Given the description of an element on the screen output the (x, y) to click on. 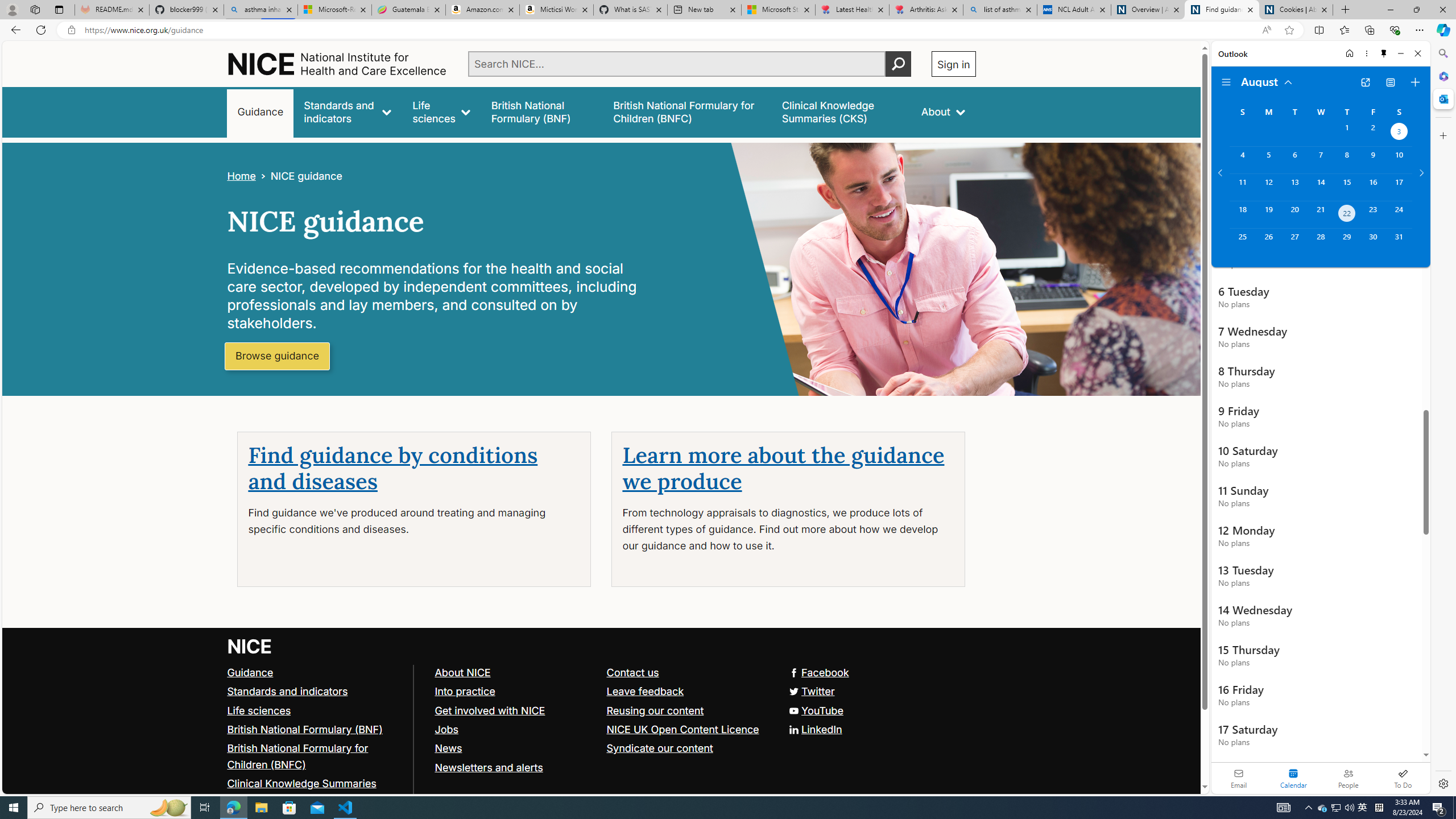
Sunday, August 18, 2024.  (1242, 214)
NICE UK Open Content Licence (686, 729)
NICE UK Open Content Licence (681, 729)
Thursday, August 15, 2024.  (1346, 186)
Folder navigation (1225, 82)
Guidance (315, 672)
Thursday, August 29, 2024.  (1346, 241)
Wednesday, August 7, 2024.  (1320, 159)
LinkedIn (601, 729)
Into practice (514, 691)
false (841, 111)
British National Formulary for Children (BNFC) (297, 756)
